Given the description of an element on the screen output the (x, y) to click on. 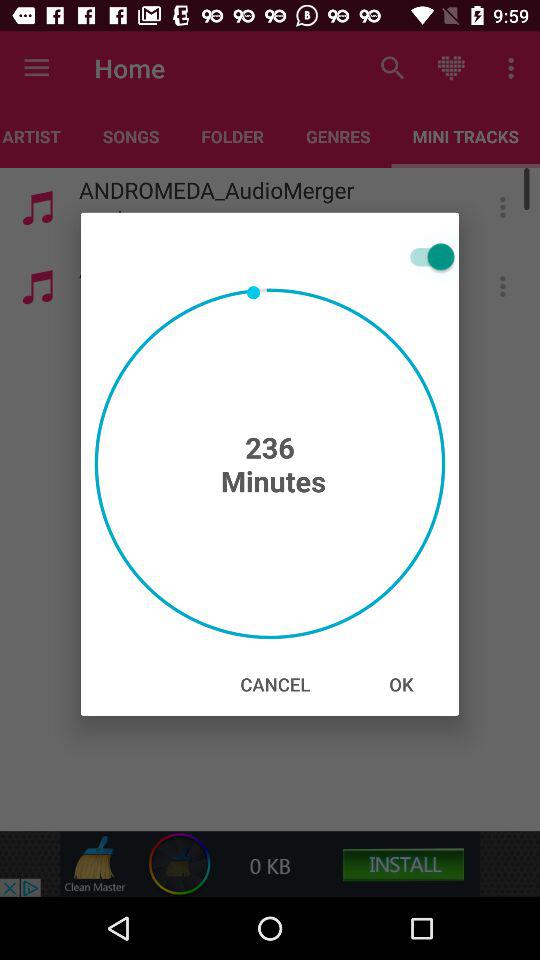
turn off cancel (275, 683)
